Given the description of an element on the screen output the (x, y) to click on. 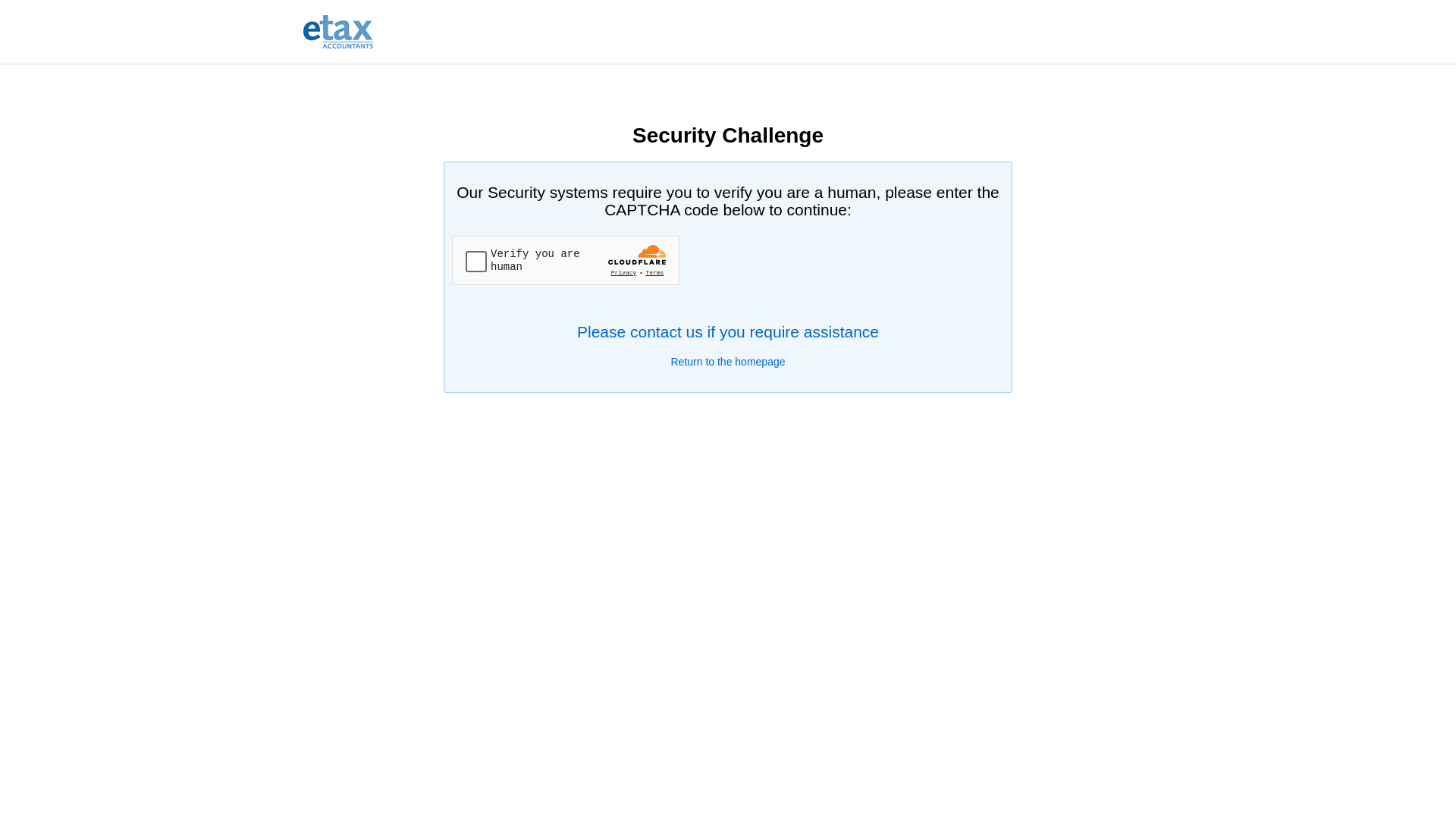
Please contact us if you require assistance Element type: text (727, 331)
Widget containing a Cloudflare security challenge Element type: hover (565, 260)
Return to the homepage Element type: text (727, 361)
